Given the description of an element on the screen output the (x, y) to click on. 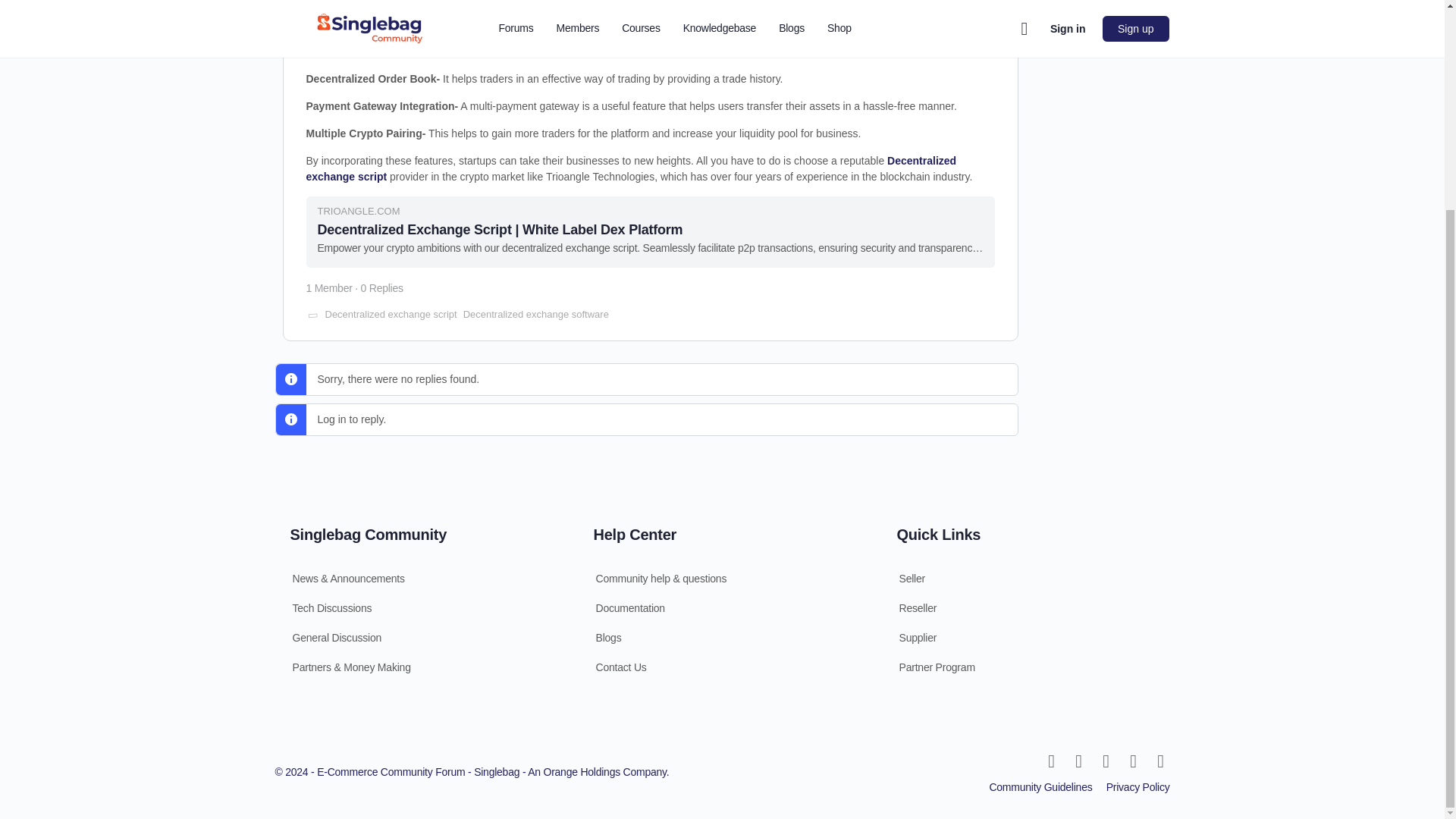
Decentralized exchange script (630, 168)
Decentralized exchange software (535, 314)
Decentralized exchange script (390, 314)
